Given the description of an element on the screen output the (x, y) to click on. 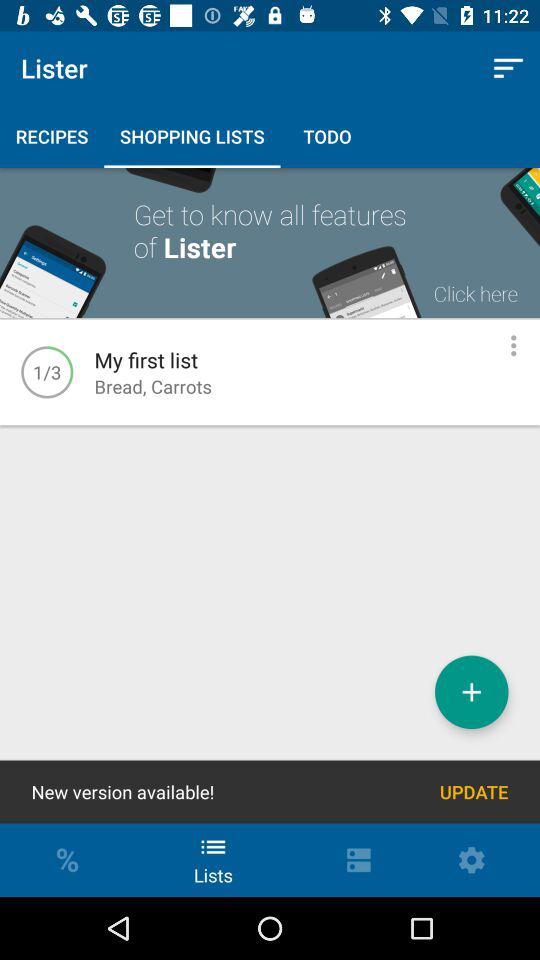
choose item next to the new version available! icon (474, 791)
